Given the description of an element on the screen output the (x, y) to click on. 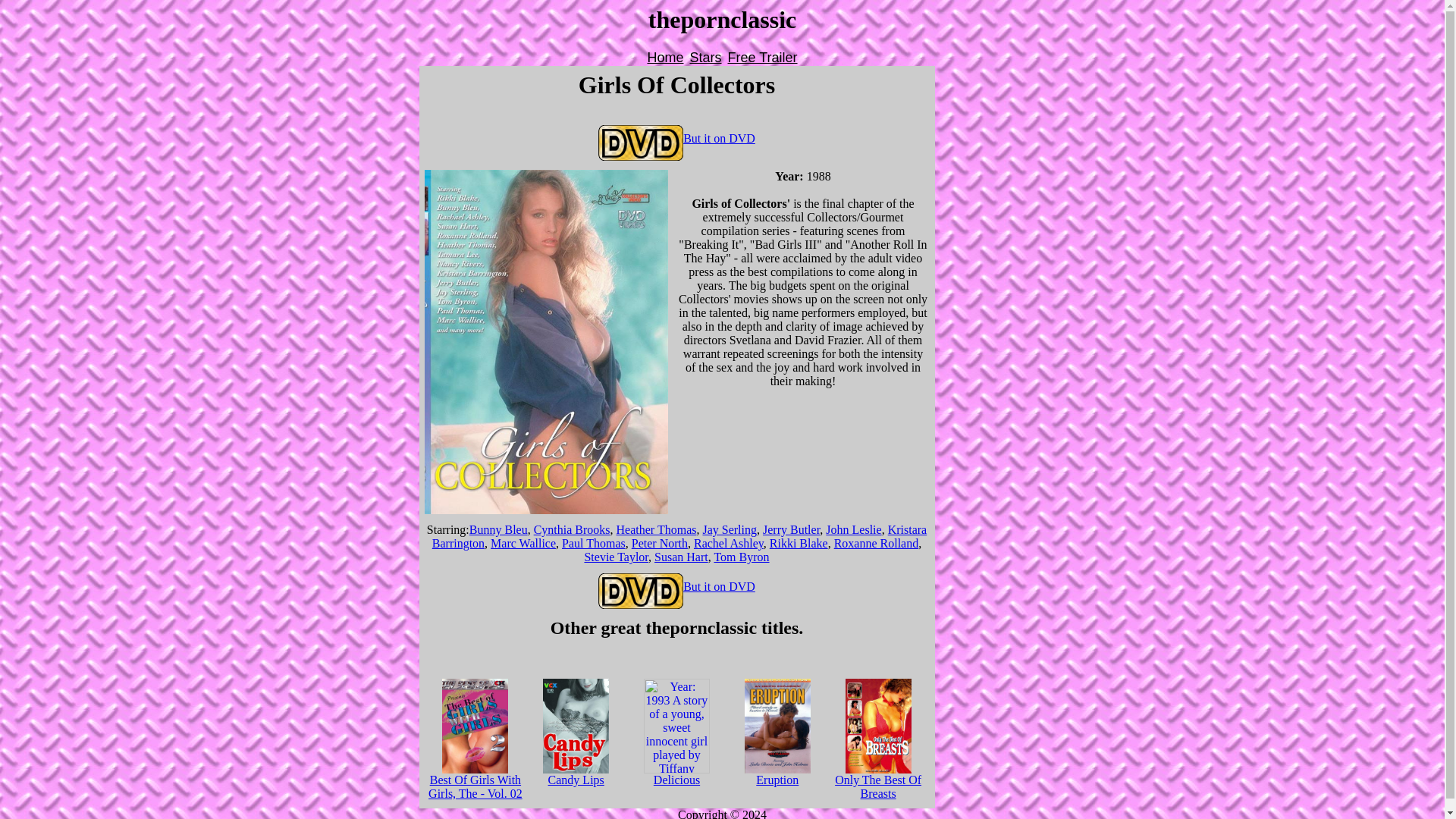
Free Trailer (762, 57)
Paul Thomas (594, 543)
Roxanne Rolland (876, 543)
Rachel Ashley (728, 543)
Rikki Blake (799, 543)
Marc Wallice (523, 543)
Kristara Barrington (679, 536)
Heather Thomas (656, 529)
Jay Serling (729, 529)
Home (664, 57)
Stevie Taylor (615, 556)
Peter North (659, 543)
Cynthia Brooks (572, 529)
John Leslie (852, 529)
Bunny Bleu (497, 529)
